Given the description of an element on the screen output the (x, y) to click on. 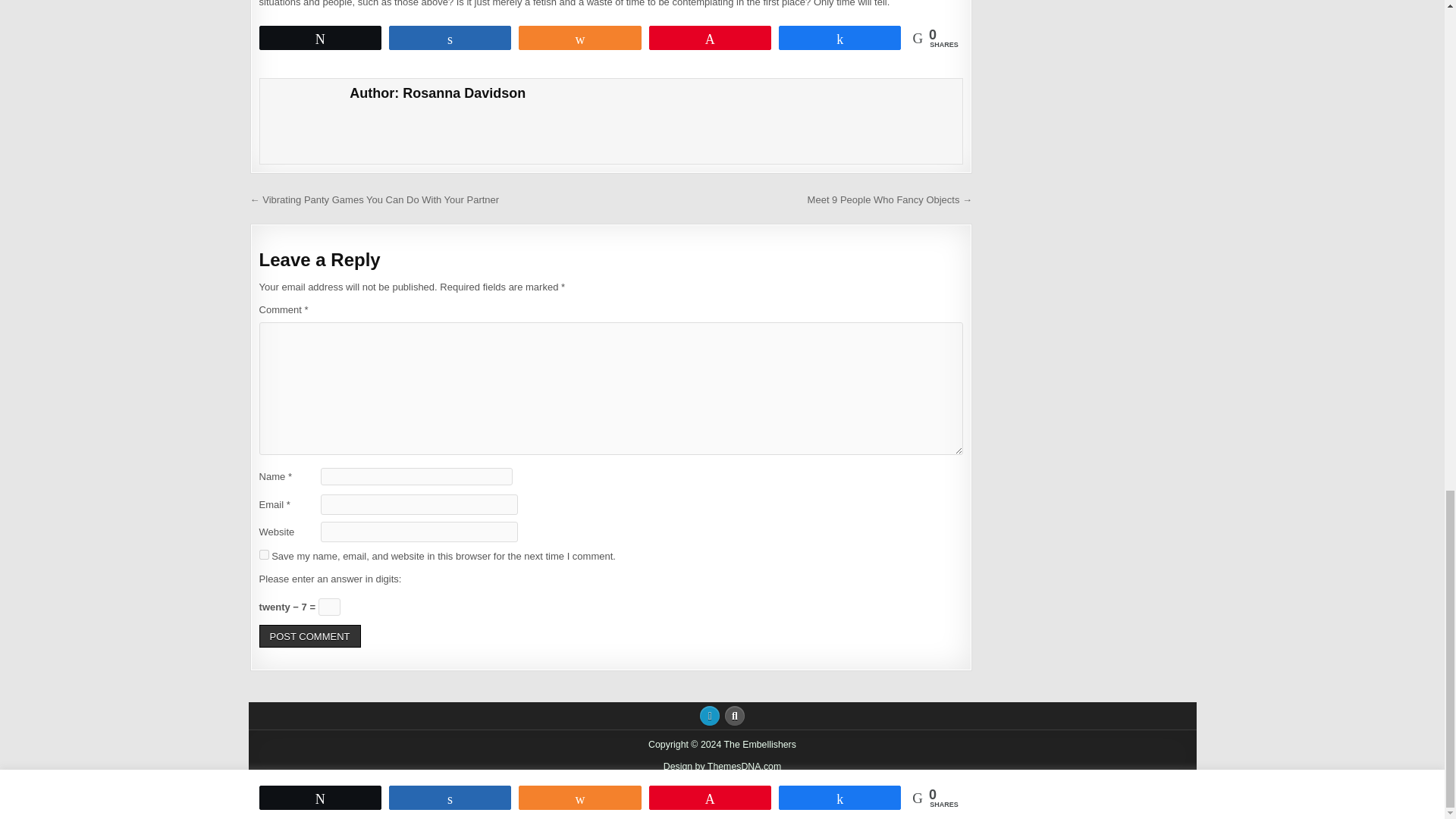
Post Comment (310, 636)
Post Comment (310, 636)
yes (264, 554)
